Given the description of an element on the screen output the (x, y) to click on. 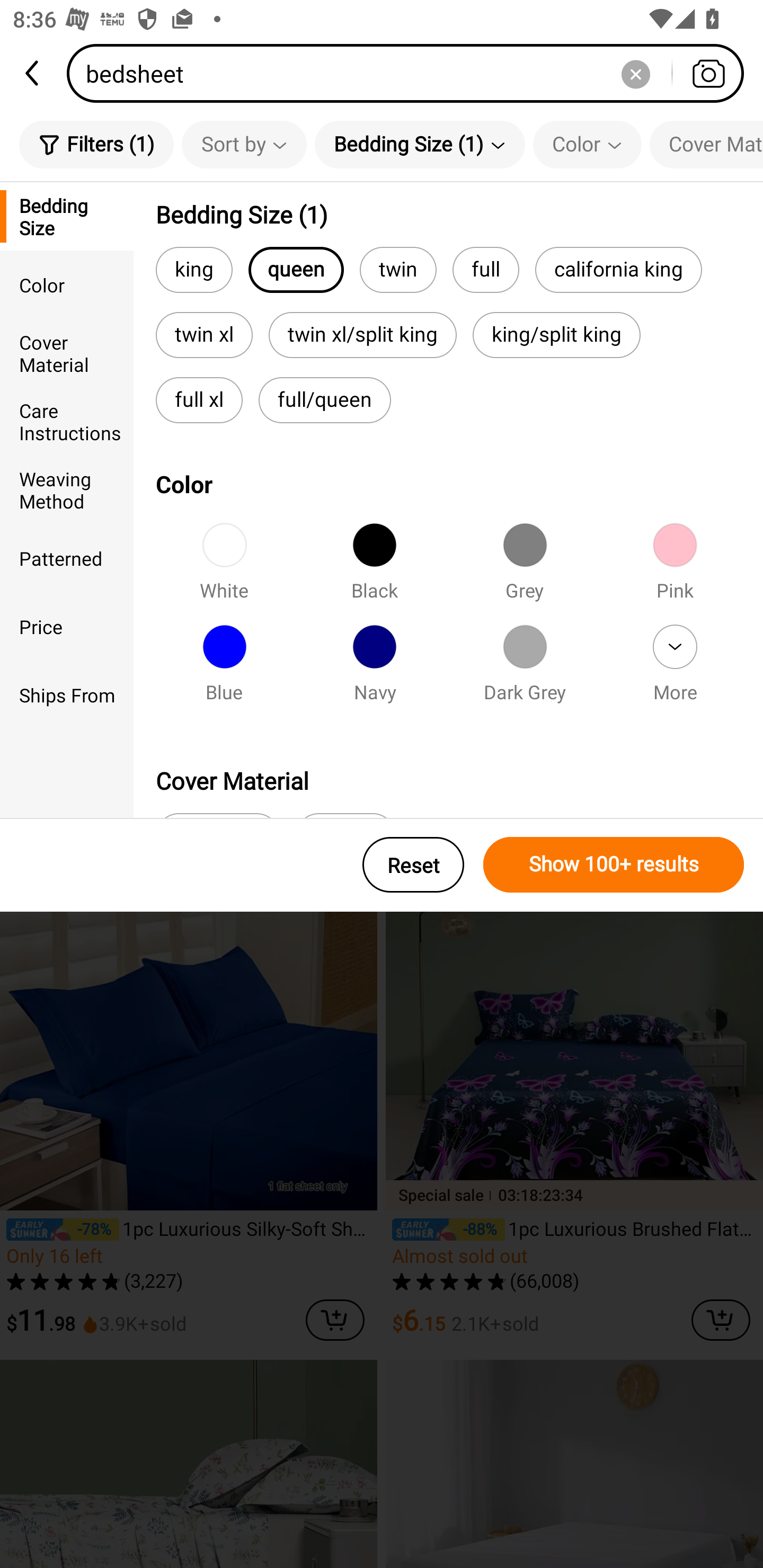
back (33, 72)
bedsheet (411, 73)
Delete search history (635, 73)
Search by photo (708, 73)
Filters (1) (96, 143)
Sort by (243, 143)
Bedding Size (1) (419, 143)
Color (587, 143)
Cover Material (706, 143)
Bedding Size (66, 215)
king (193, 269)
queen (296, 269)
twin (398, 269)
full (485, 269)
california king (617, 269)
Color (66, 284)
twin xl (203, 334)
twin xl/split king (362, 334)
king/split king (556, 334)
Cover Material (66, 352)
